Given the description of an element on the screen output the (x, y) to click on. 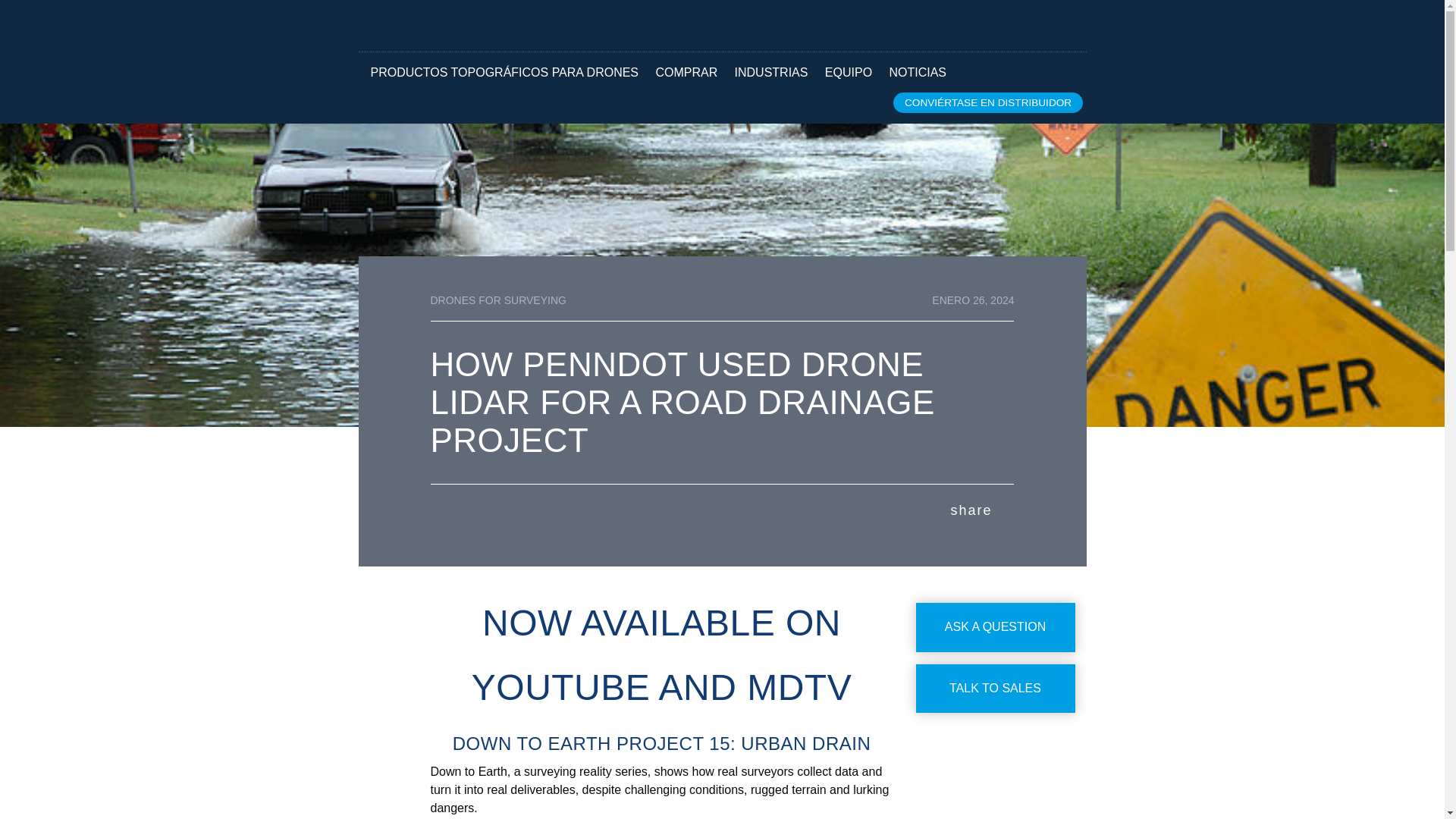
COMPRAR (685, 72)
Comprar (685, 72)
EQUIPO (848, 72)
Search (1049, 28)
INDUSTRIAS (770, 72)
Microdrones (437, 25)
NOTICIAS (917, 72)
